Given the description of an element on the screen output the (x, y) to click on. 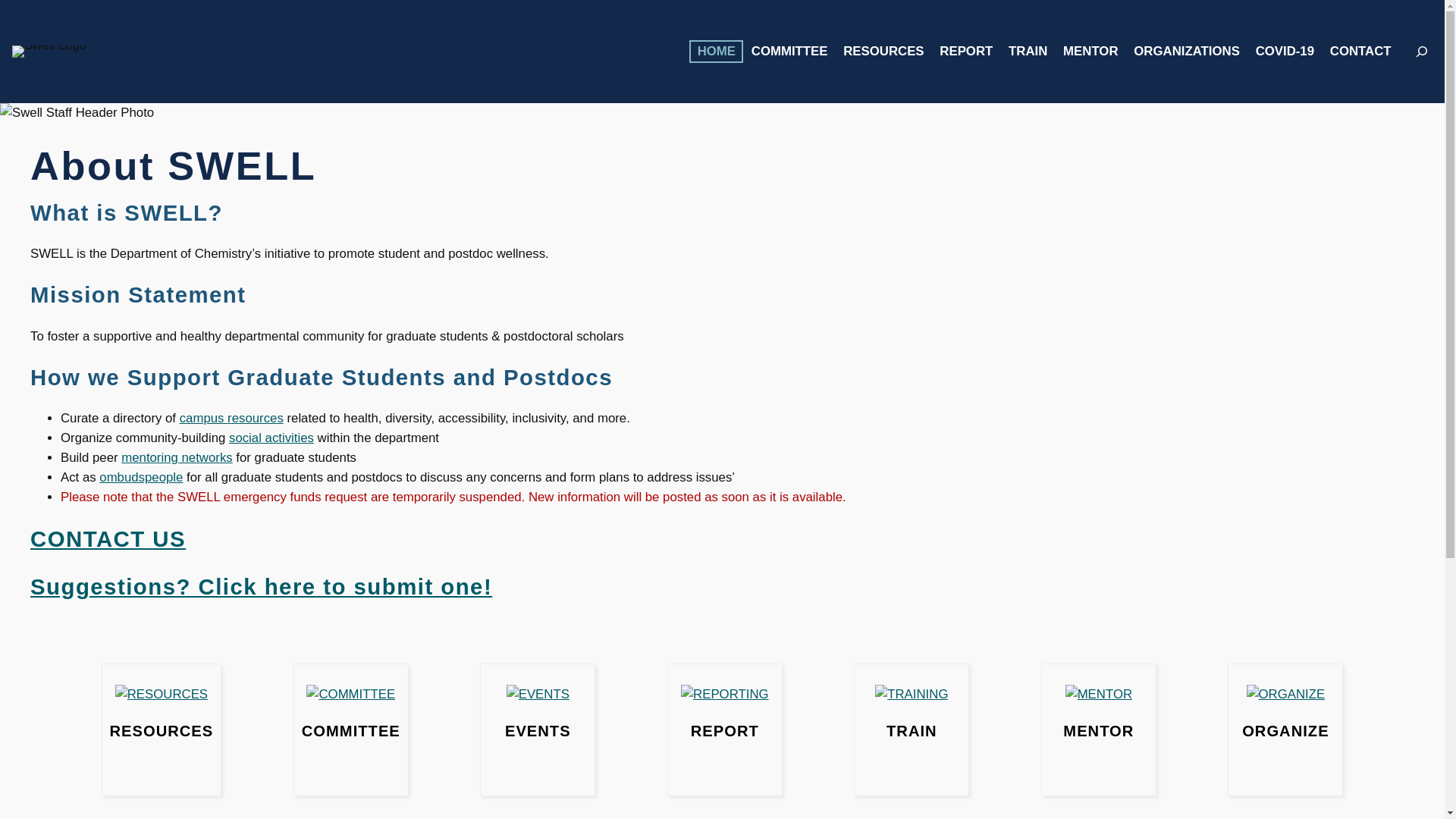
MENTOR (1090, 51)
RESOURCES (883, 51)
CONTACT US (108, 538)
ombudspeople (141, 477)
COMMITTEE (788, 51)
HOME (715, 51)
campus resources (231, 418)
COVID-19 (1284, 51)
CONTACT (1360, 51)
TRAIN (1028, 51)
